Given the description of an element on the screen output the (x, y) to click on. 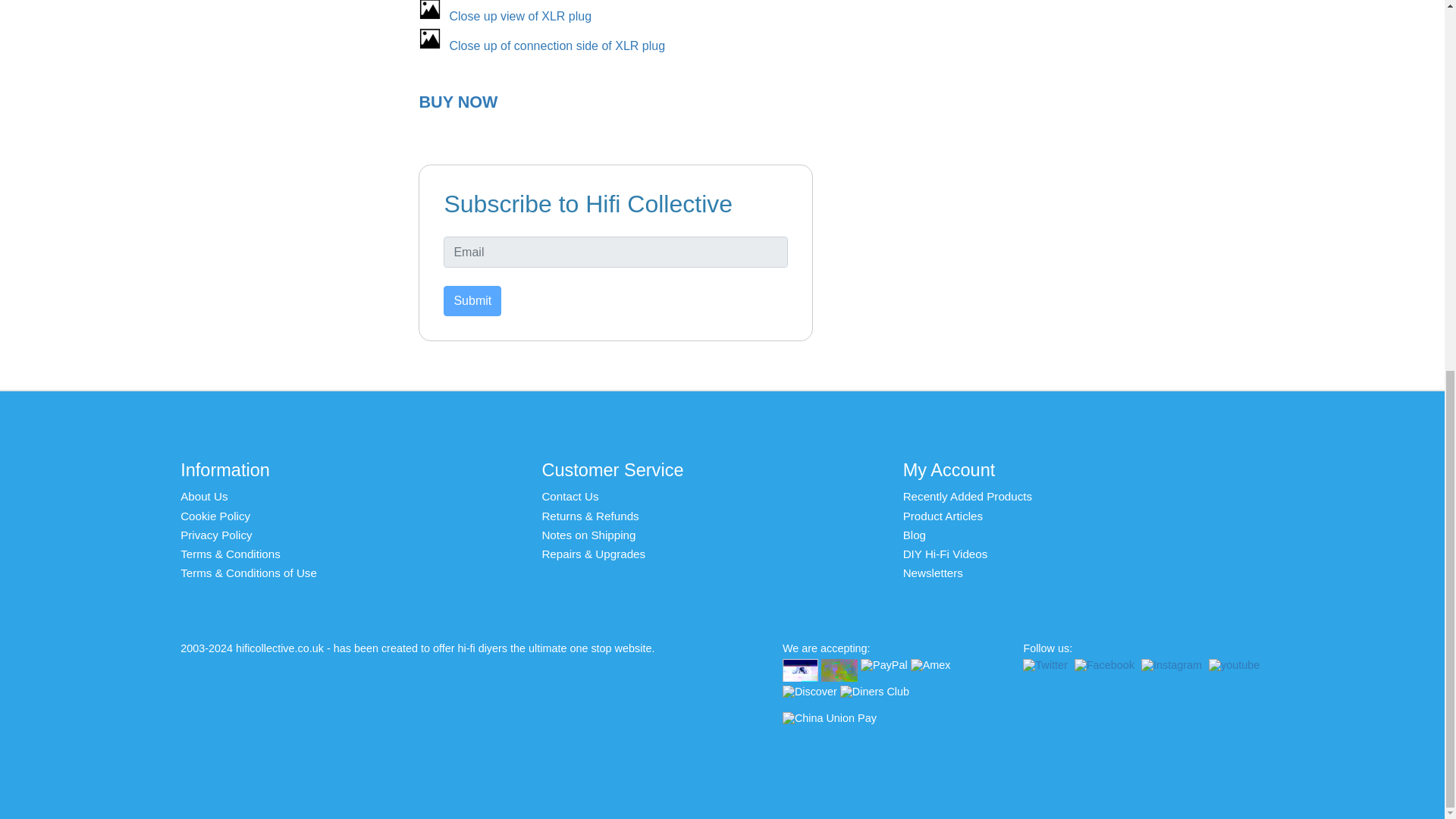
Open image in new window (519, 15)
repair-upgrade-engineers.html (593, 553)
Open image in new window (556, 45)
